Given the description of an element on the screen output the (x, y) to click on. 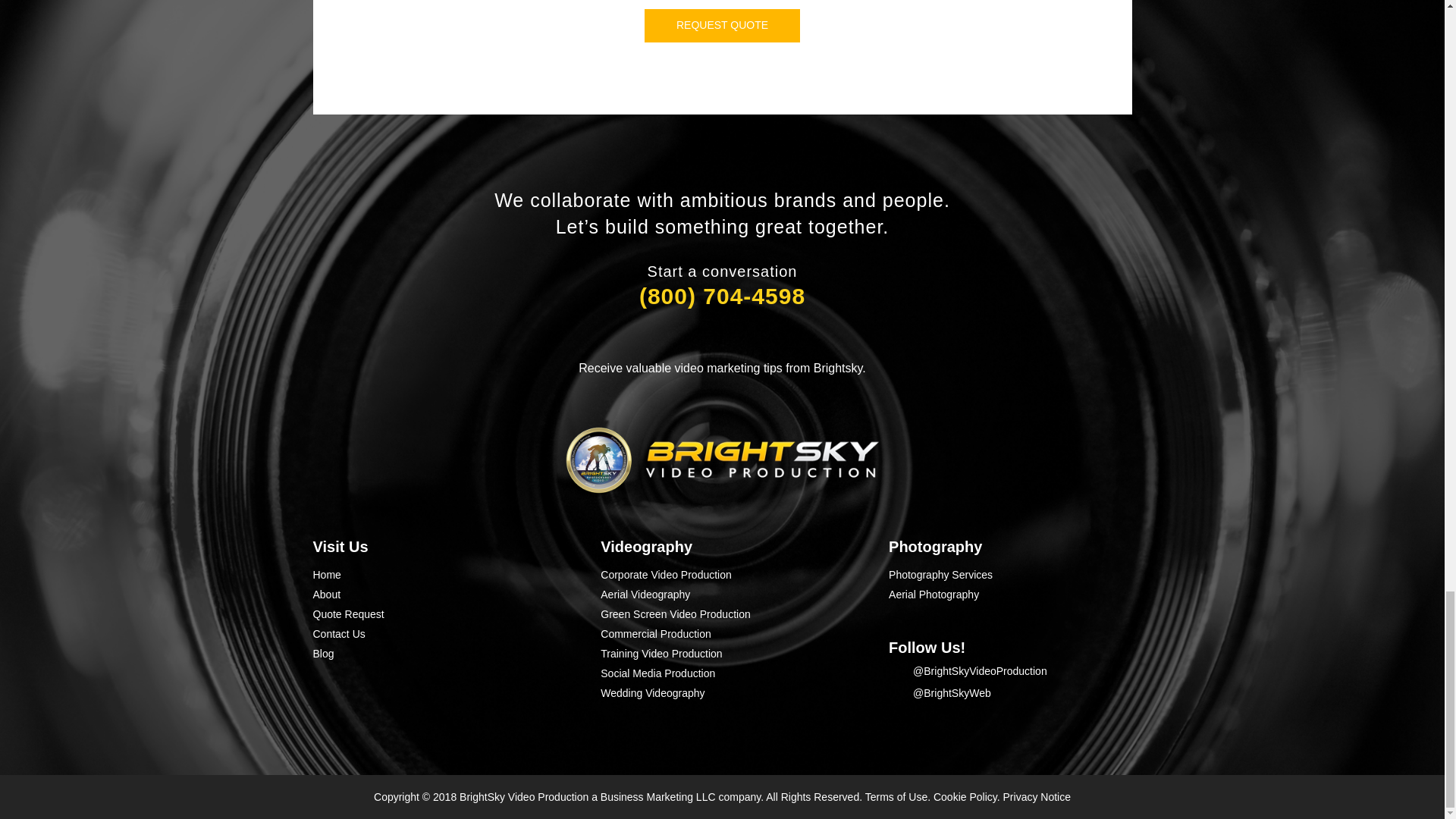
logo-footer-bsvp (721, 460)
